Given the description of an element on the screen output the (x, y) to click on. 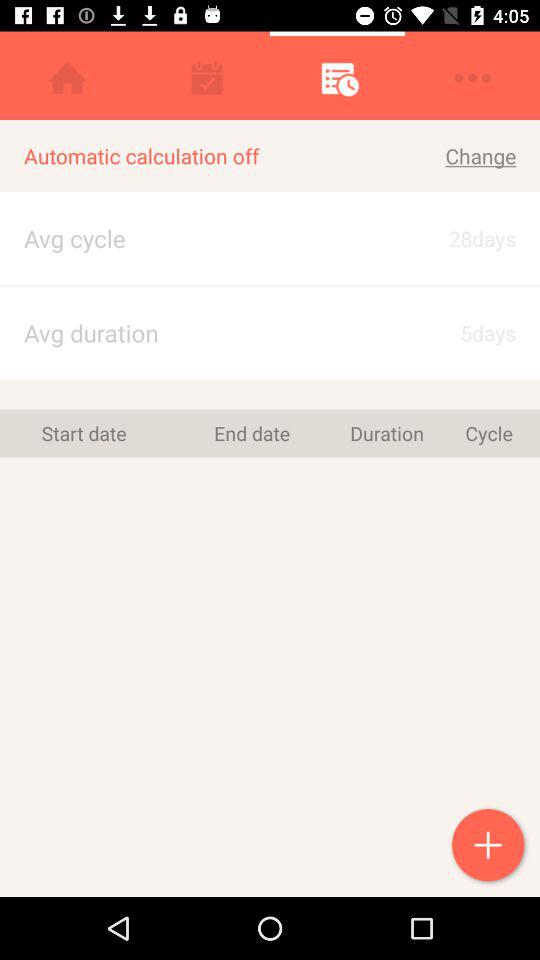
press end date (252, 433)
